Given the description of an element on the screen output the (x, y) to click on. 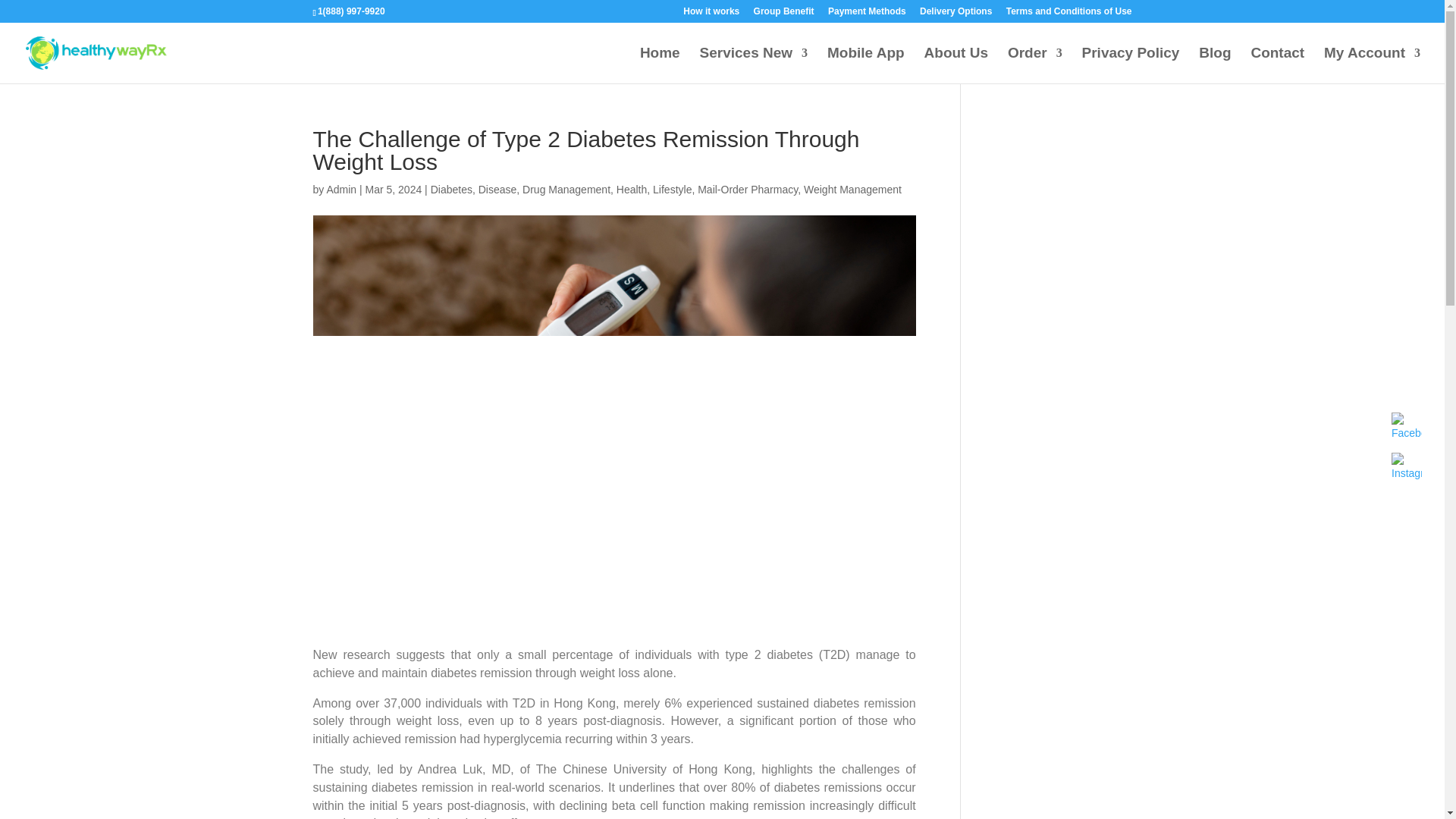
Services New (754, 65)
About Us (956, 65)
Disease (497, 189)
Posts by Admin (341, 189)
Mail-Order Pharmacy (747, 189)
Health (630, 189)
Delivery Options (955, 14)
My Account (1372, 65)
Weight Management (852, 189)
Order (1034, 65)
